Given the description of an element on the screen output the (x, y) to click on. 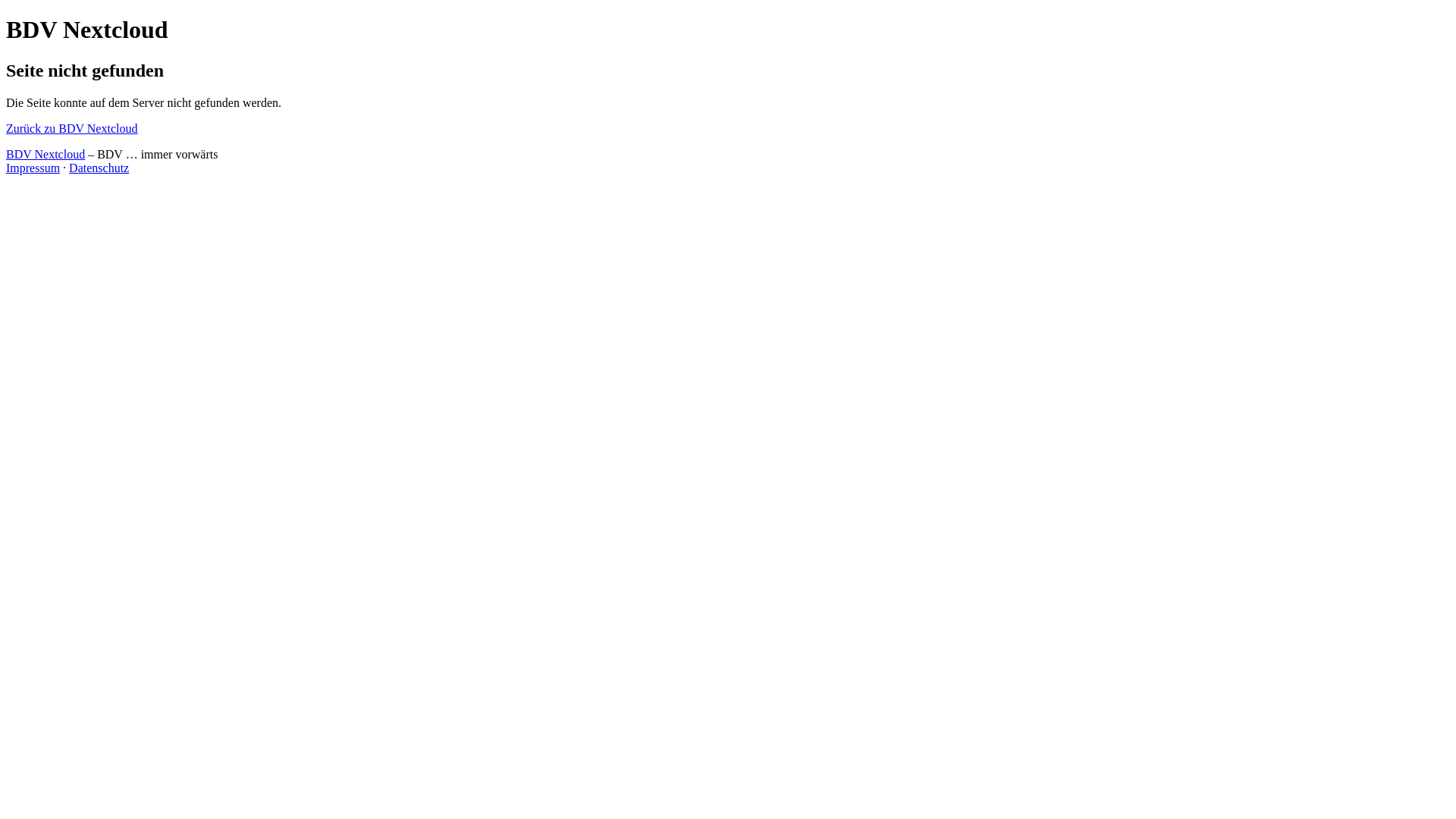
Datenschutz Element type: text (98, 167)
BDV Nextcloud Element type: text (45, 153)
Impressum Element type: text (32, 167)
